Given the description of an element on the screen output the (x, y) to click on. 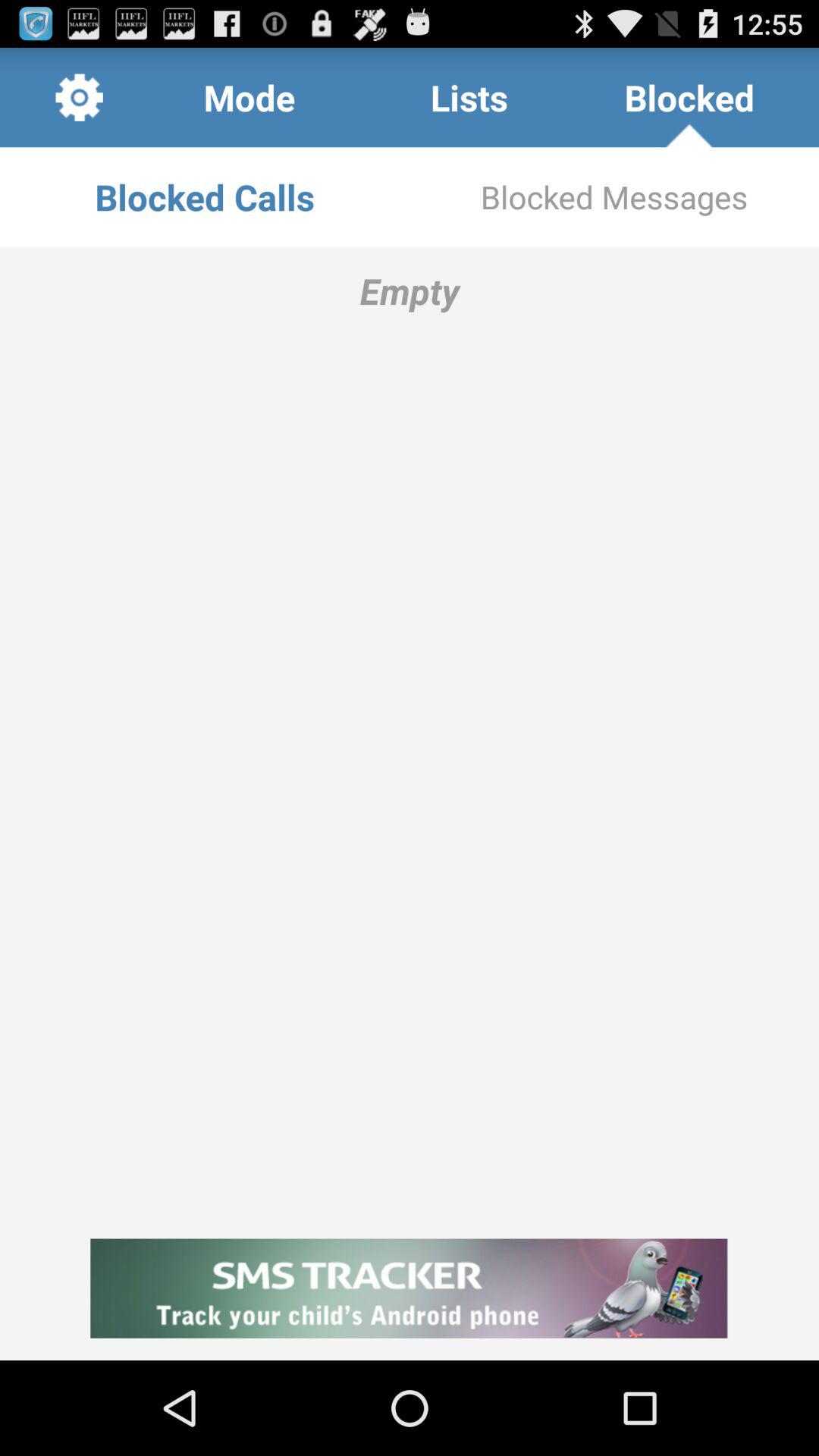
click icon at the bottom (409, 1288)
